Given the description of an element on the screen output the (x, y) to click on. 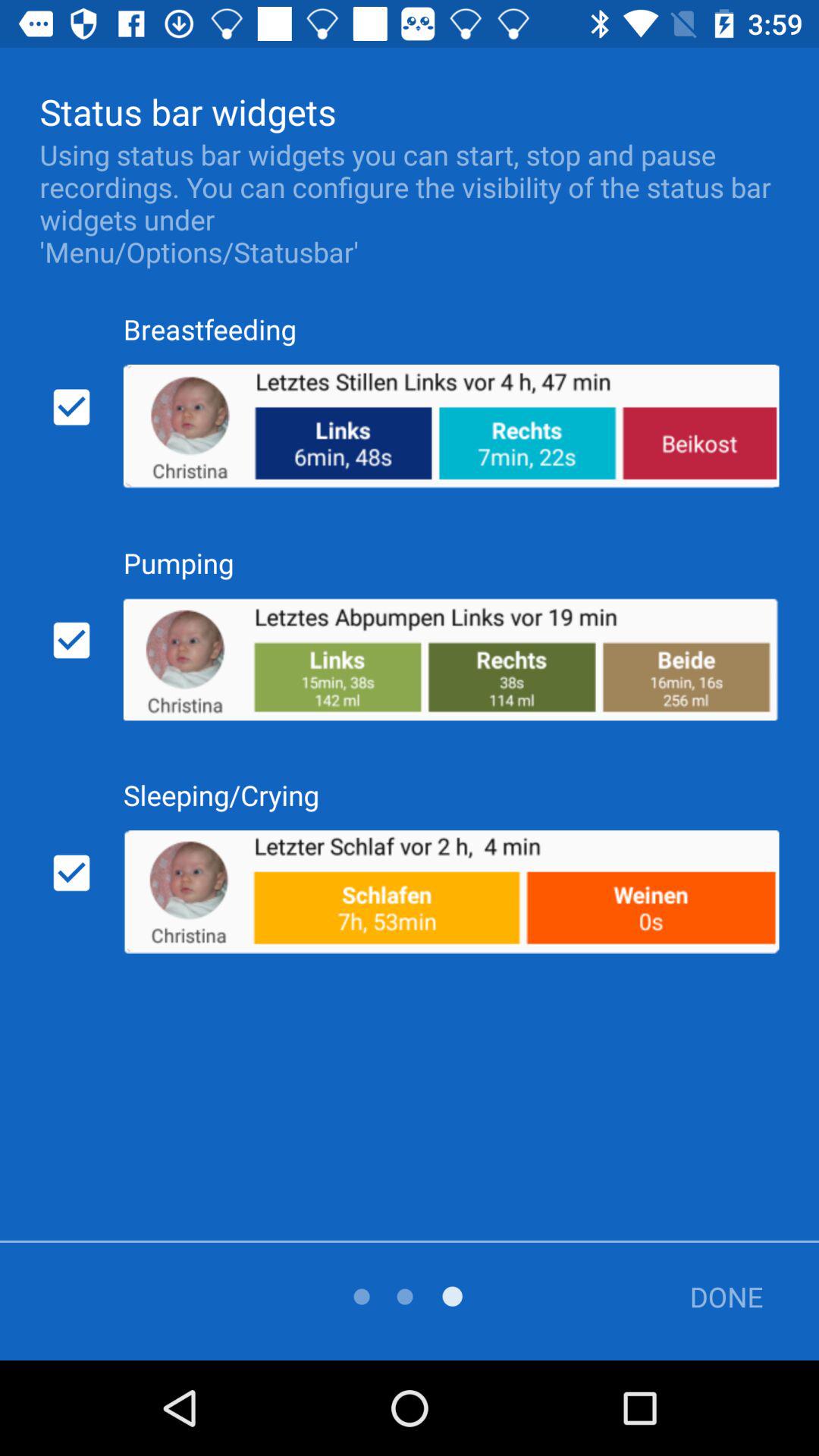
click the checkbox (71, 407)
